Given the description of an element on the screen output the (x, y) to click on. 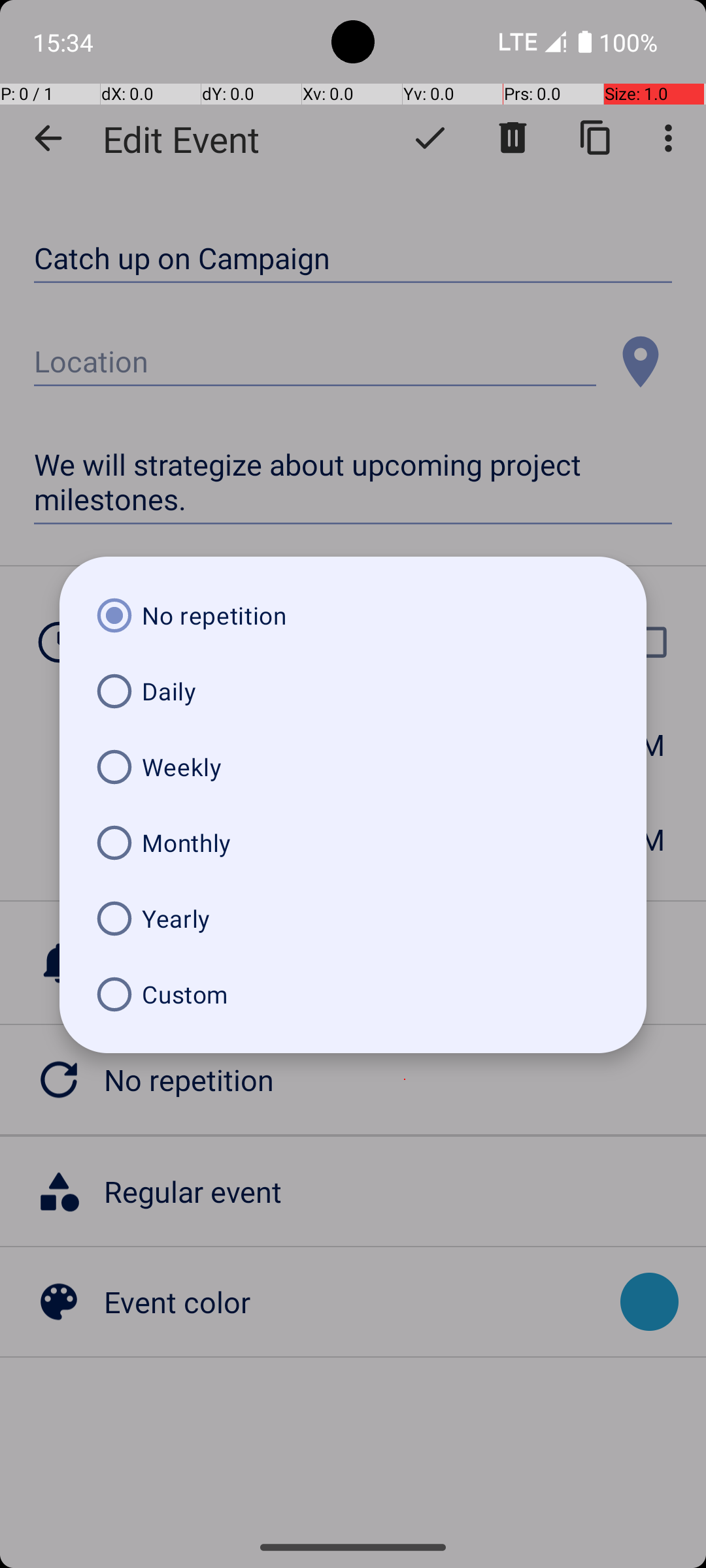
Weekly Element type: android.widget.RadioButton (352, 766)
Yearly Element type: android.widget.RadioButton (352, 918)
